Given the description of an element on the screen output the (x, y) to click on. 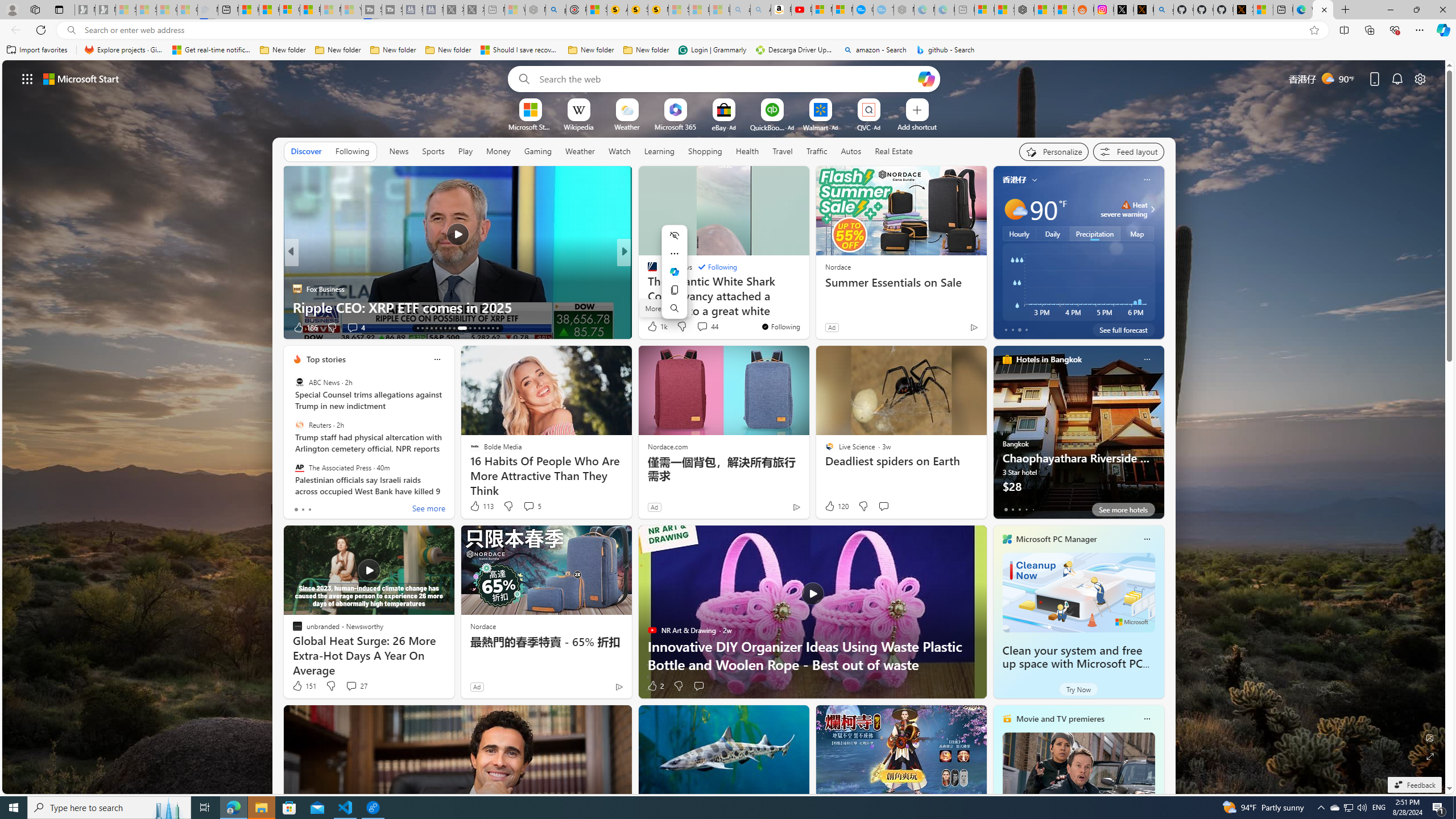
Microsoft account | Microsoft Account Privacy Settings (983, 9)
View comments 77 Comment (6, 327)
Ad (476, 686)
Try Now (1078, 689)
Personalize your feed" (1054, 151)
Microsoft Start - Sleeping (330, 9)
AutomationID: tab-14 (422, 328)
AutomationID: backgroundImagePicture (723, 426)
Class: weather-arrow-glyph (1152, 208)
Close (1442, 9)
Click to see more information (1150, 208)
